Given the description of an element on the screen output the (x, y) to click on. 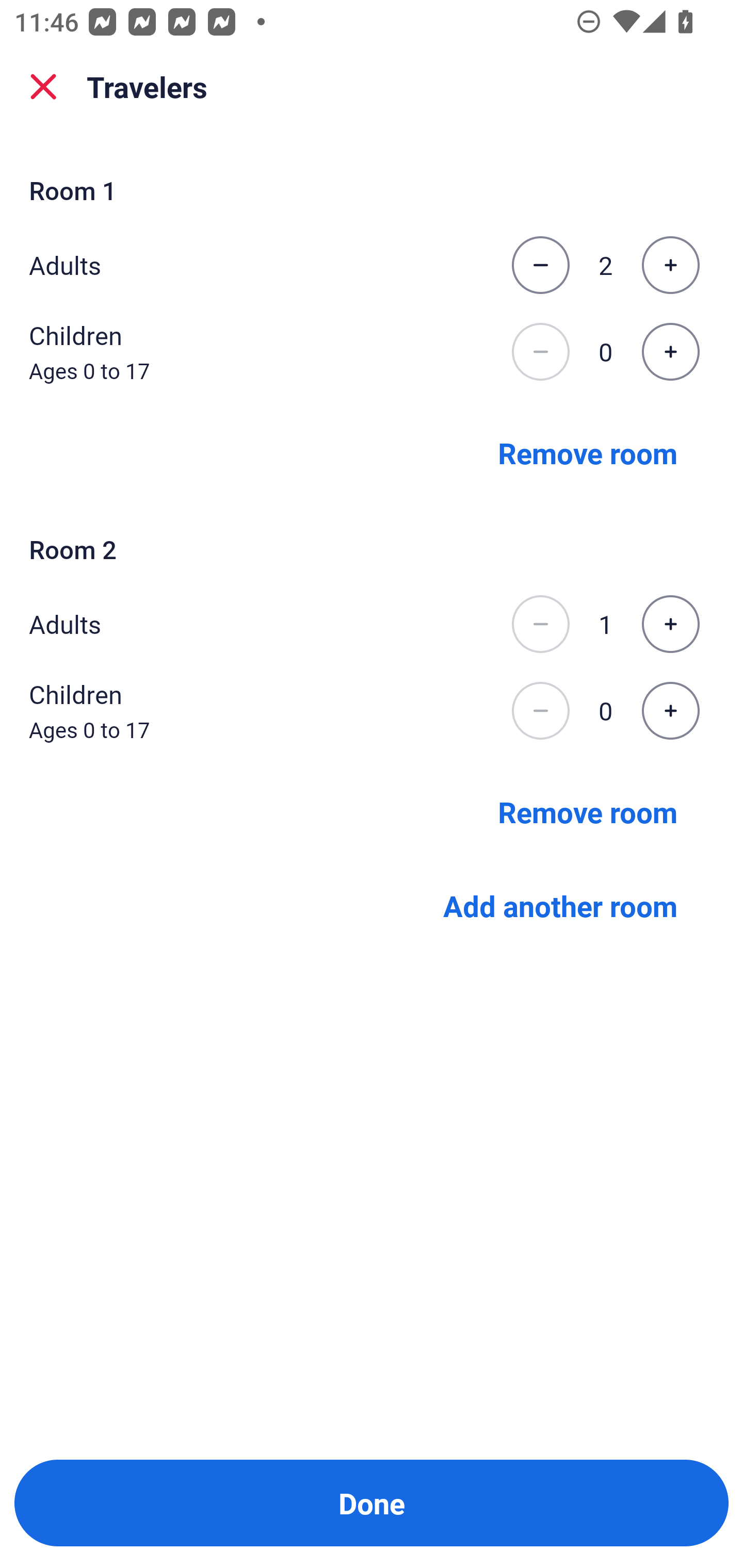
close (43, 86)
Decrease the number of adults (540, 264)
Increase the number of adults (670, 264)
Decrease the number of children (540, 351)
Increase the number of children (670, 351)
Remove room (588, 452)
Decrease the number of adults (540, 623)
Increase the number of adults (670, 623)
Decrease the number of children (540, 710)
Increase the number of children (670, 710)
Remove room (588, 811)
Add another room (560, 905)
Done (371, 1502)
